Given the description of an element on the screen output the (x, y) to click on. 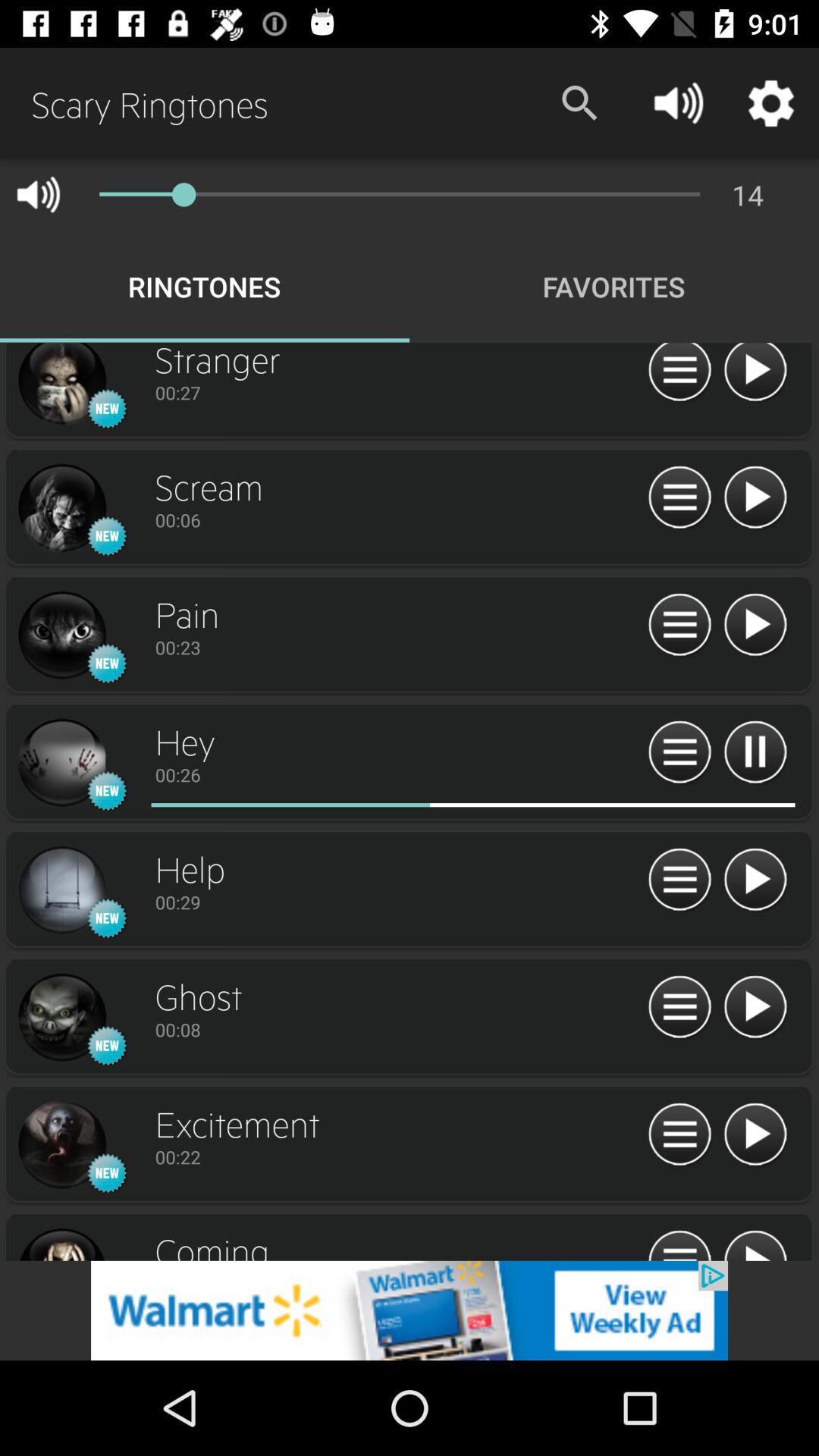
play song (755, 625)
